Given the description of an element on the screen output the (x, y) to click on. 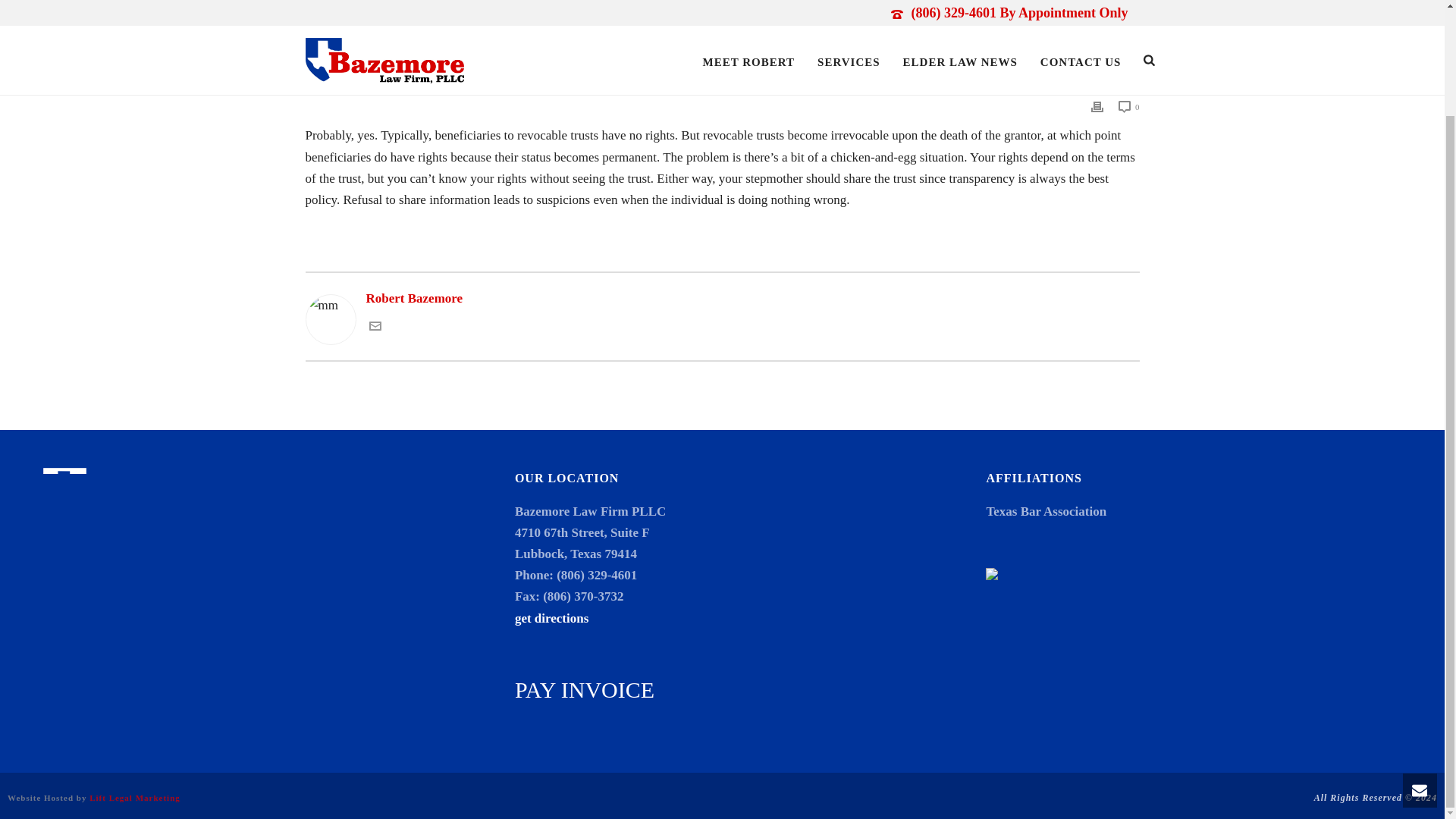
PAY INVOICE (584, 689)
Lift Legal Marketing (134, 797)
Robert Bazemore (721, 298)
0 (1128, 106)
get directions (551, 617)
